Given the description of an element on the screen output the (x, y) to click on. 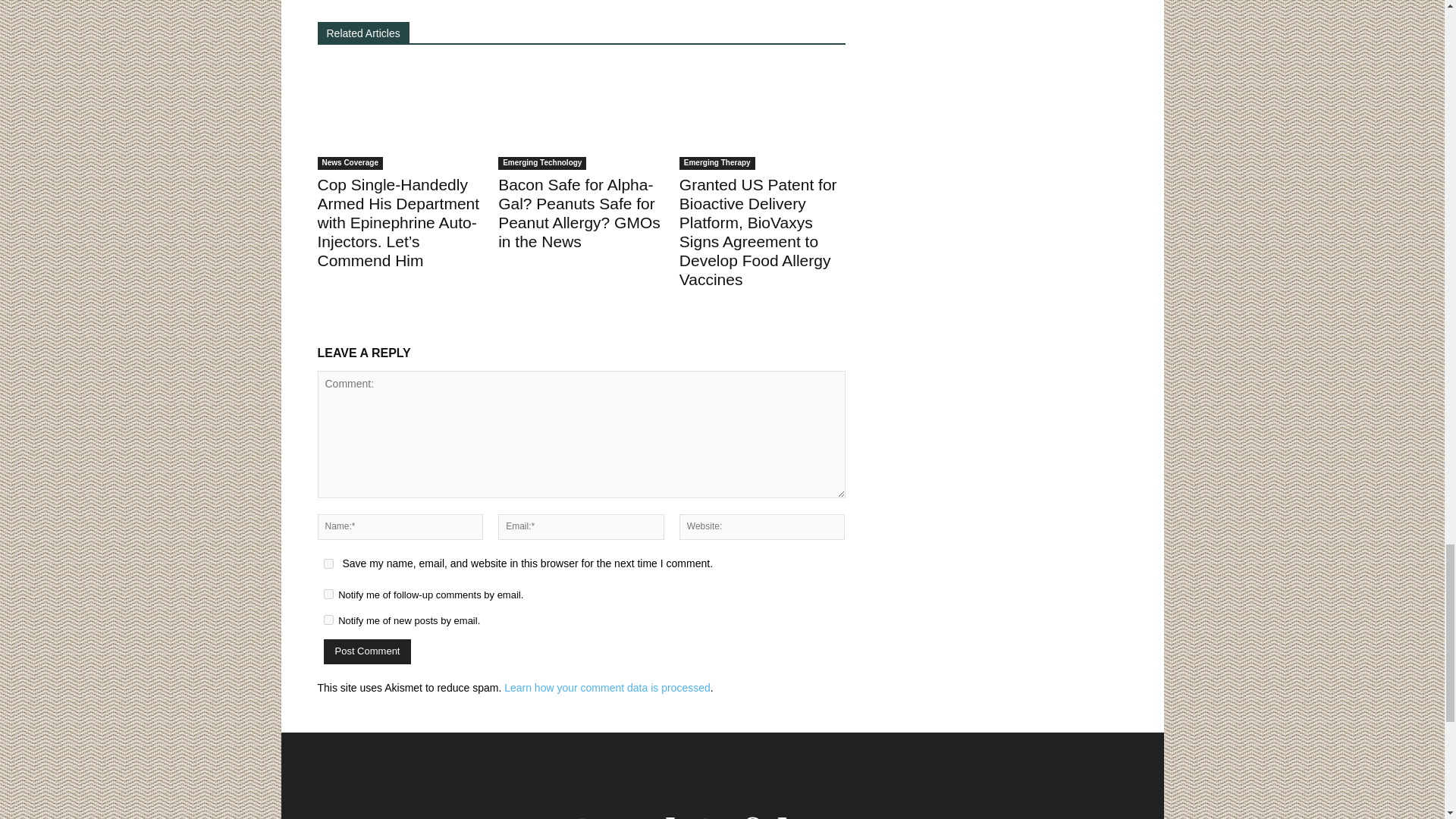
subscribe (328, 619)
Post Comment (366, 651)
yes (328, 563)
subscribe (328, 593)
